Given the description of an element on the screen output the (x, y) to click on. 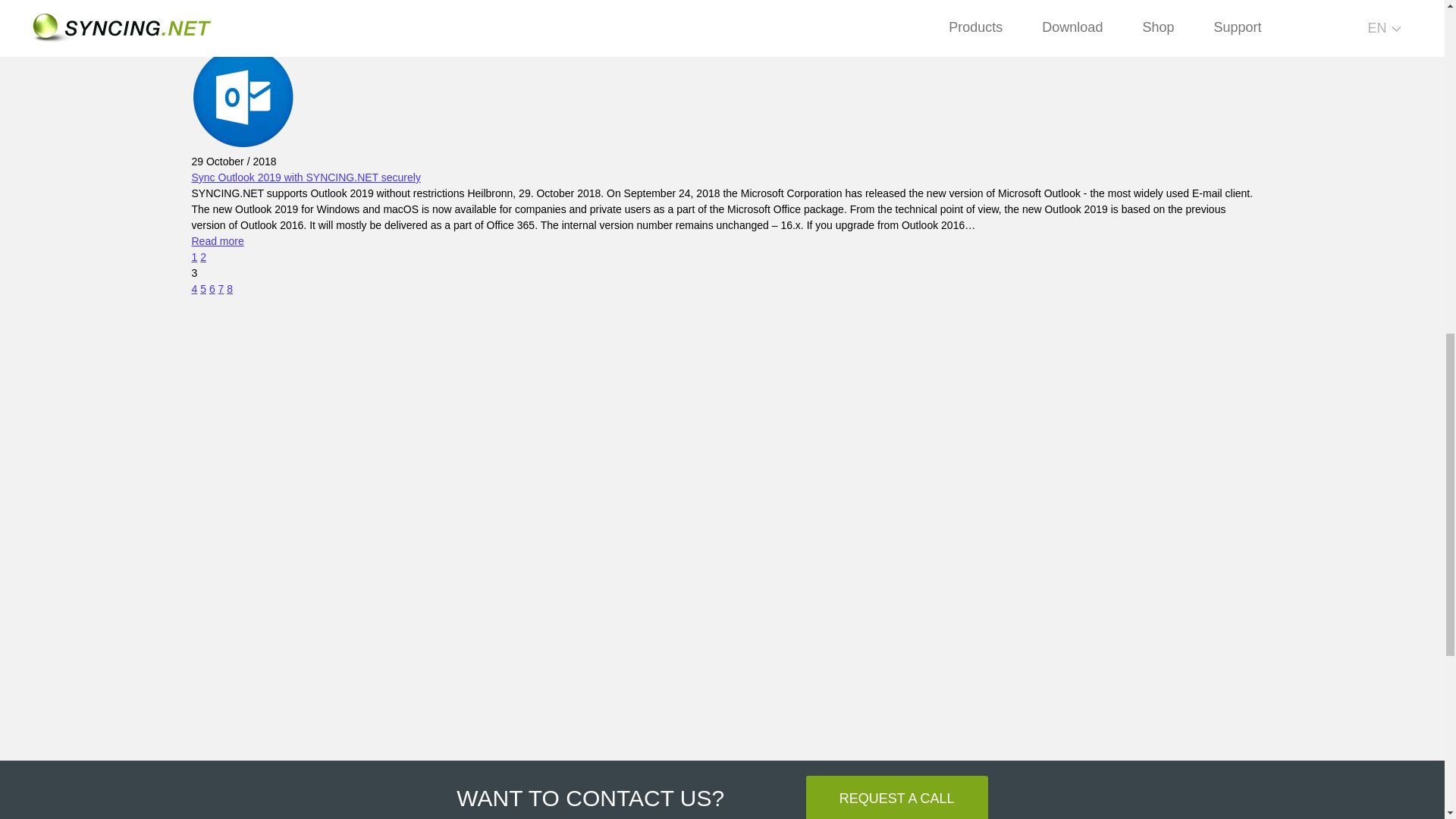
Read more (216, 37)
Read more (216, 241)
Sync Outlook 2019 with SYNCING.NET securely (305, 177)
